Given the description of an element on the screen output the (x, y) to click on. 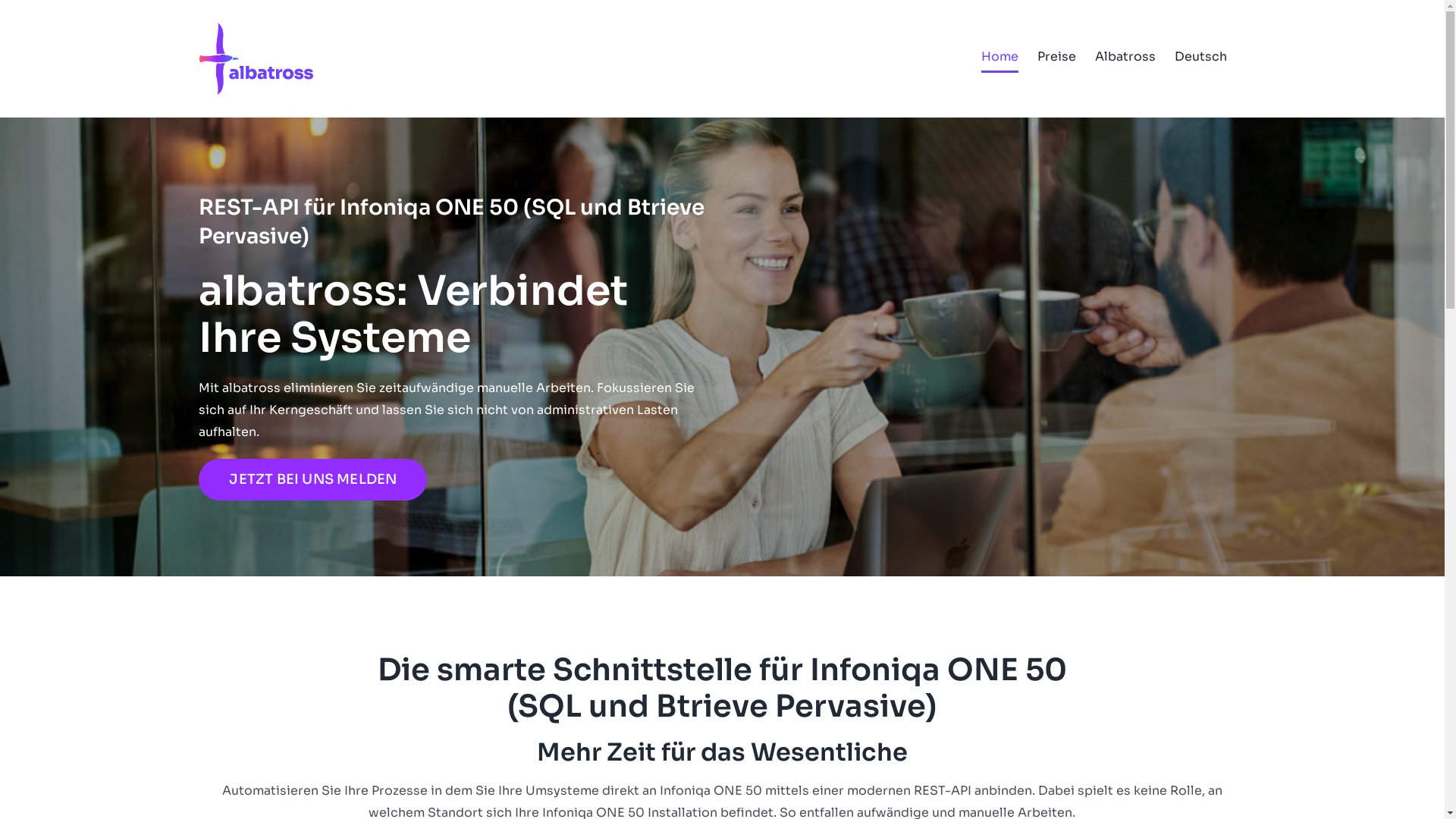
Preise Element type: text (1056, 56)
Home Element type: text (999, 56)
Albatross Element type: text (1125, 56)
JETZT BEI UNS MELDEN Element type: text (312, 479)
Deutsch Element type: text (1199, 56)
